Given the description of an element on the screen output the (x, y) to click on. 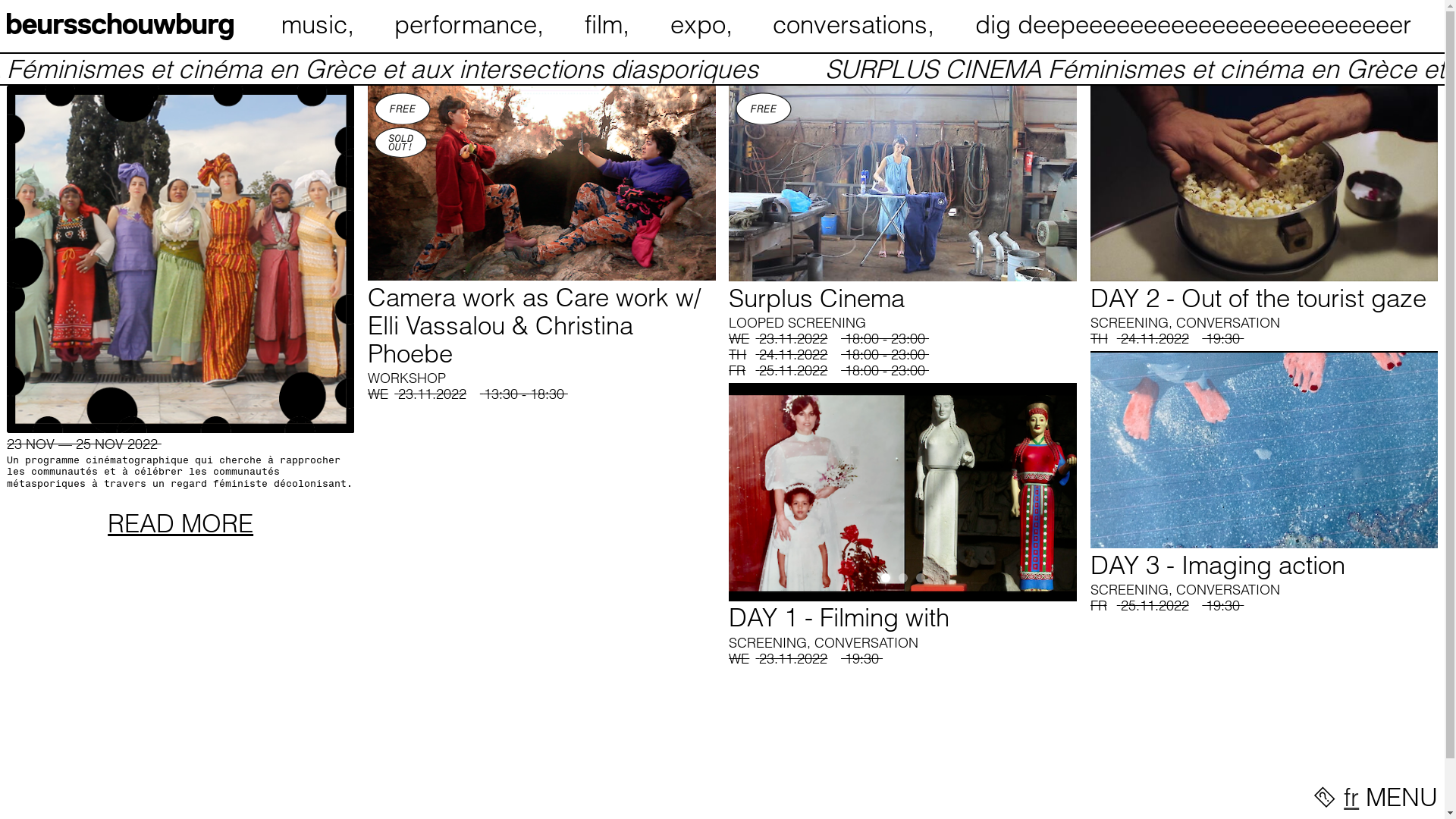
music Element type: text (320, 24)
expo Element type: text (704, 24)
dig deepeeeeeeeeeeeeeeeeeeeeeeeer Element type: text (1206, 24)
performance Element type: text (472, 24)
film Element type: text (610, 24)
READ MORE Element type: text (180, 523)
conversations Element type: text (856, 24)
